Given the description of an element on the screen output the (x, y) to click on. 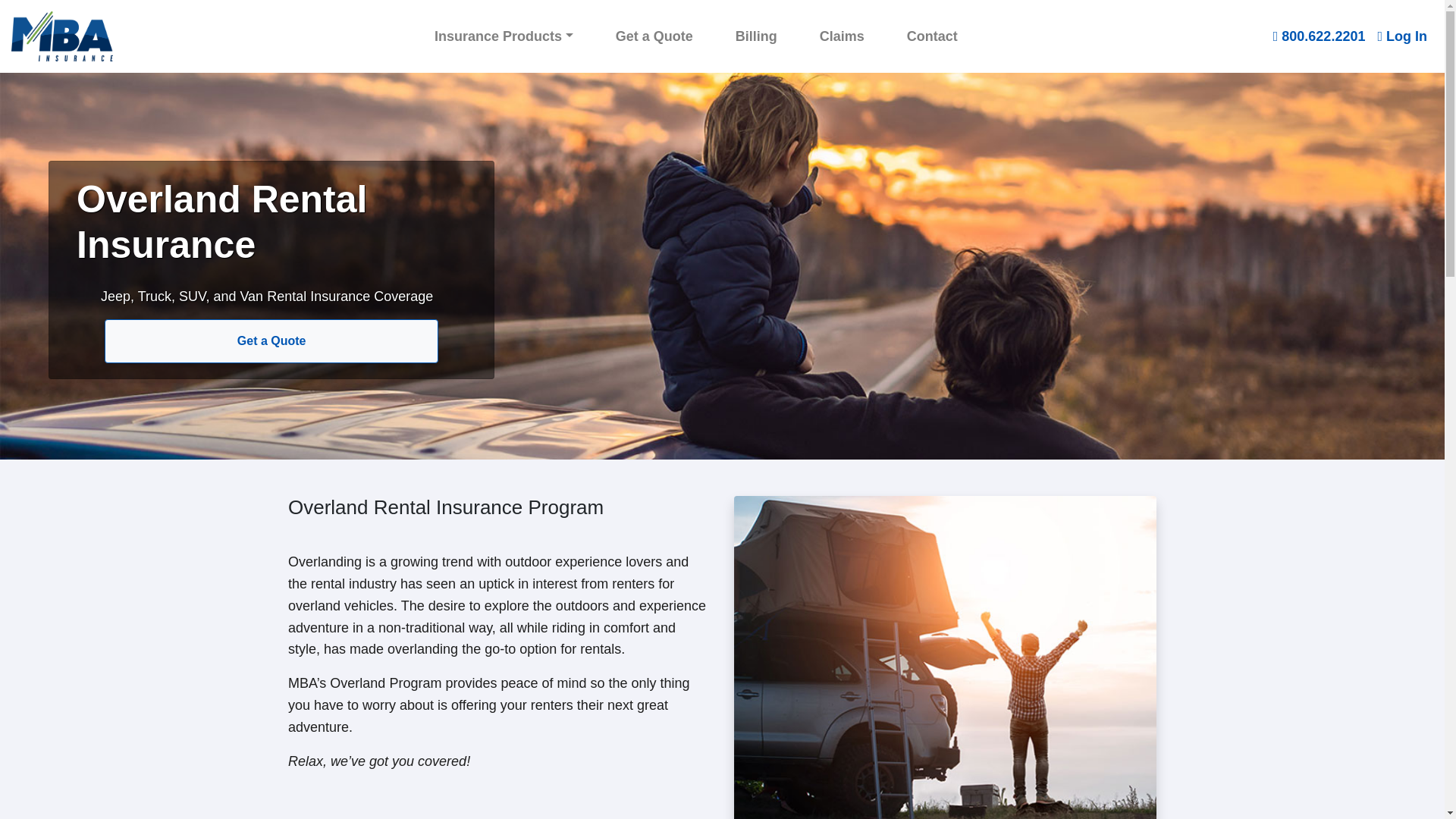
Call MBA Insurance with Google Voice (1318, 36)
Billing (756, 36)
800.622.2201 (1318, 36)
Claims (841, 36)
Insurance Products (503, 36)
Contact (932, 36)
Log In (1401, 36)
Get a Quote (654, 36)
